Given the description of an element on the screen output the (x, y) to click on. 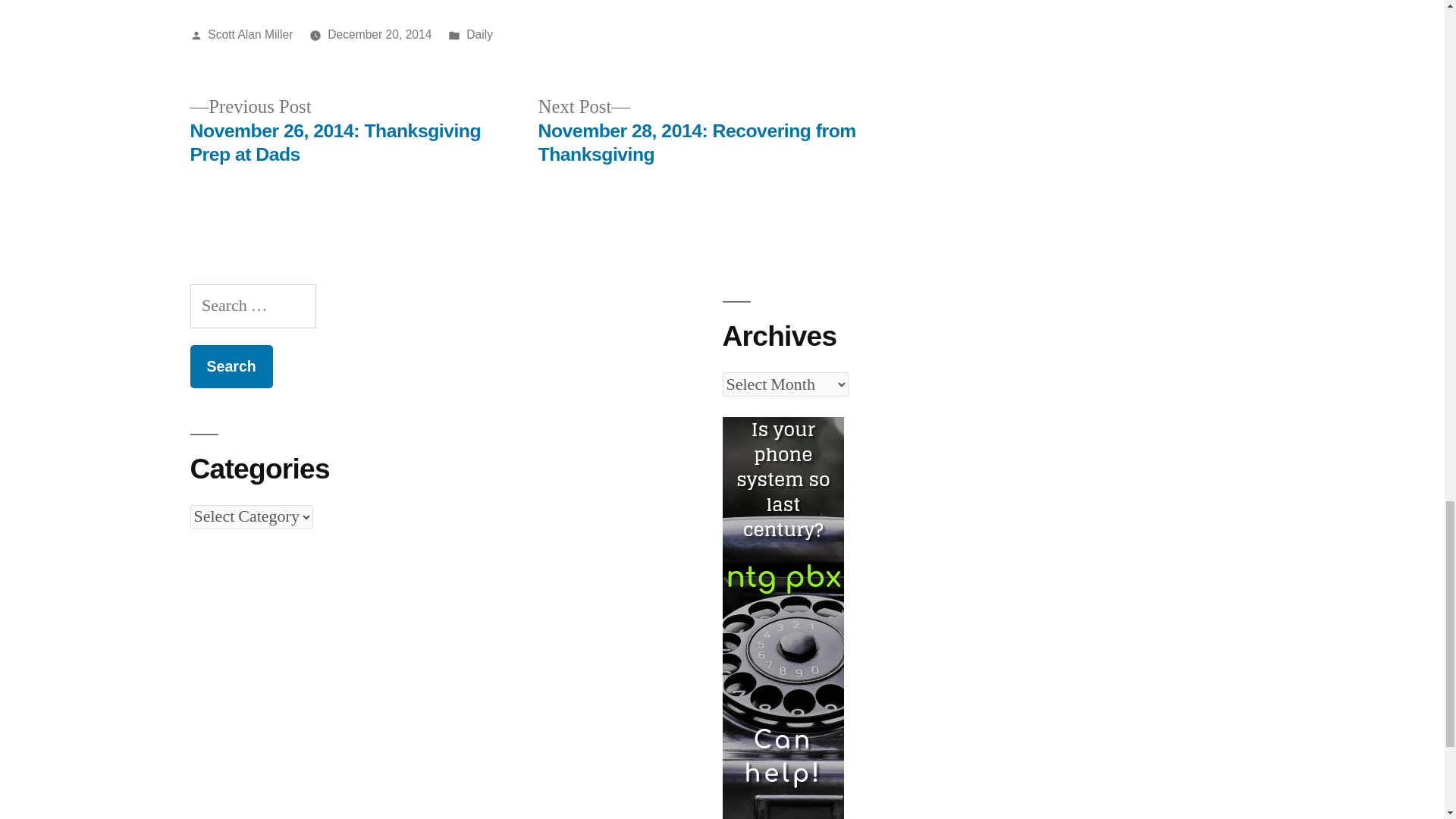
December 20, 2014 (378, 33)
Daily (479, 33)
Scott Alan Miller (250, 33)
Search (230, 366)
Search (230, 366)
Search (230, 366)
